Given the description of an element on the screen output the (x, y) to click on. 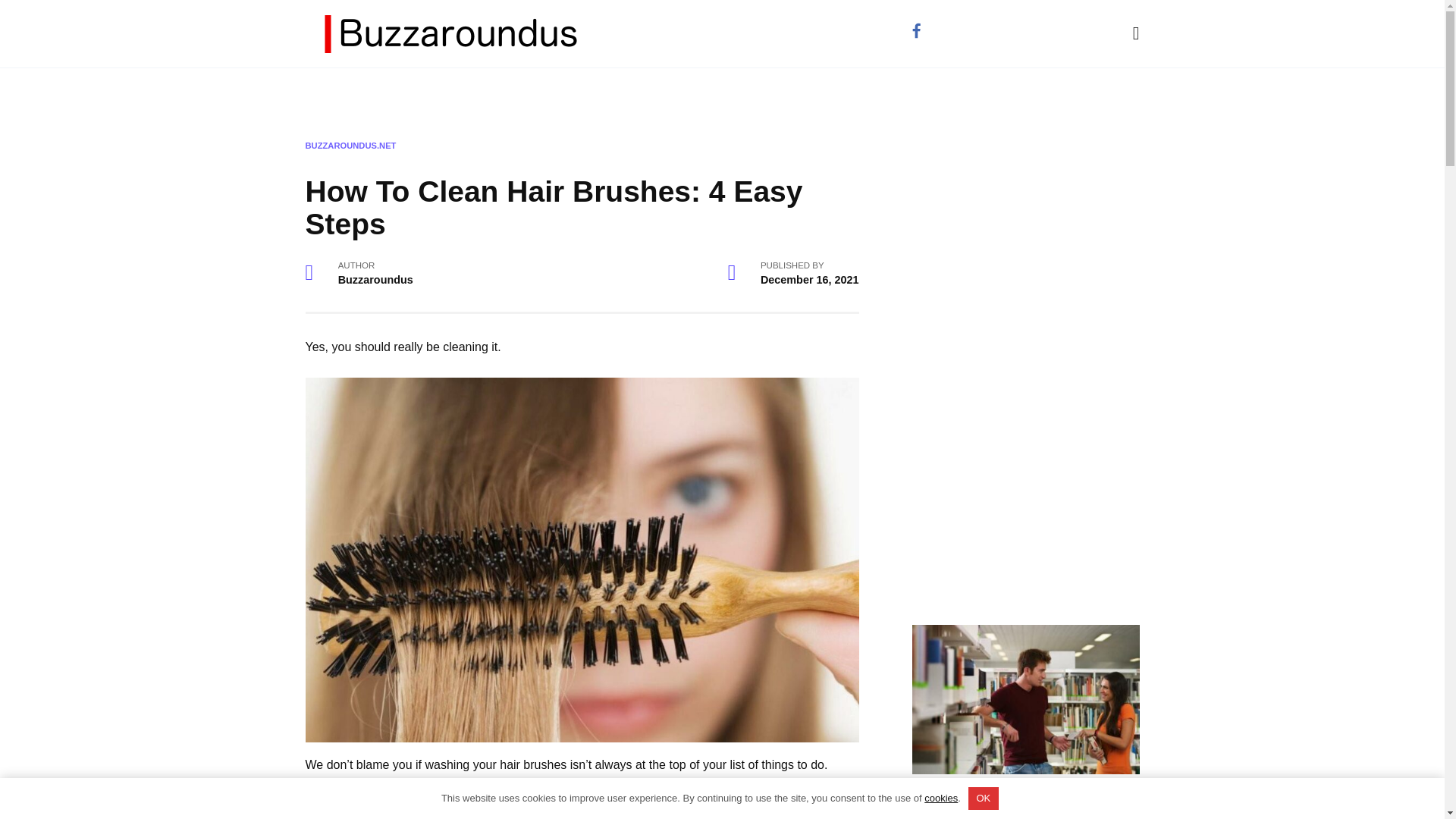
Health (677, 92)
Home (325, 92)
Life (624, 92)
15 Sweet Ways to Tell a Guy You Like Him and Win Him Over (1013, 802)
Relationship (401, 92)
Psychology (494, 92)
BUZZAROUNDUS.NET (350, 144)
Advice (571, 92)
